Given the description of an element on the screen output the (x, y) to click on. 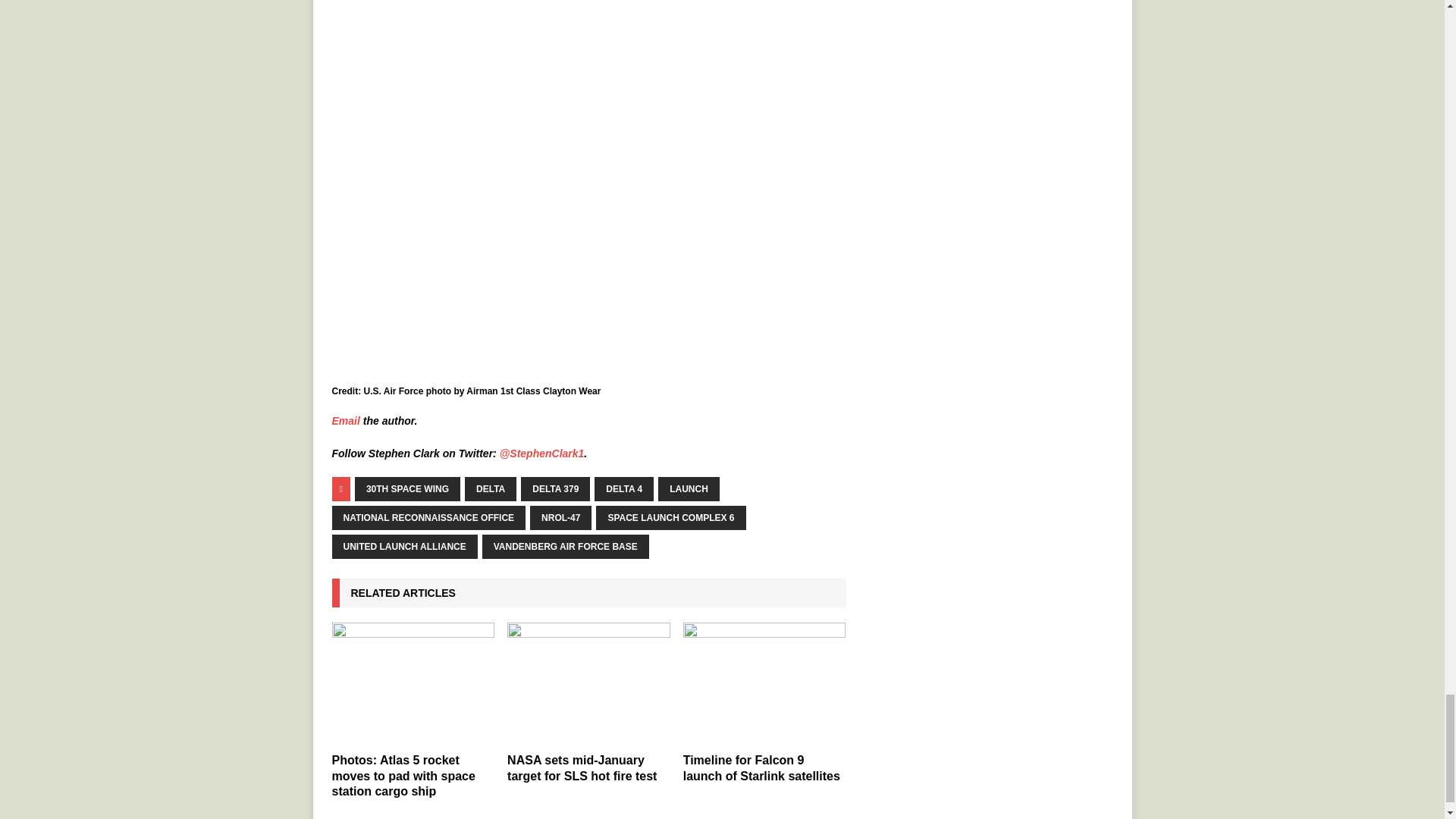
DELTA 4 (623, 488)
30TH SPACE WING (407, 488)
DELTA 379 (555, 488)
Timeline for Falcon 9 launch of Starlink satellites (761, 767)
NASA sets mid-January target for SLS hot fire test (581, 767)
Timeline for Falcon 9 launch of Starlink satellites (763, 683)
NASA sets mid-January target for SLS hot fire test (587, 683)
LAUNCH (688, 488)
NATIONAL RECONNAISSANCE OFFICE (428, 517)
Email (345, 420)
DELTA (490, 488)
